Given the description of an element on the screen output the (x, y) to click on. 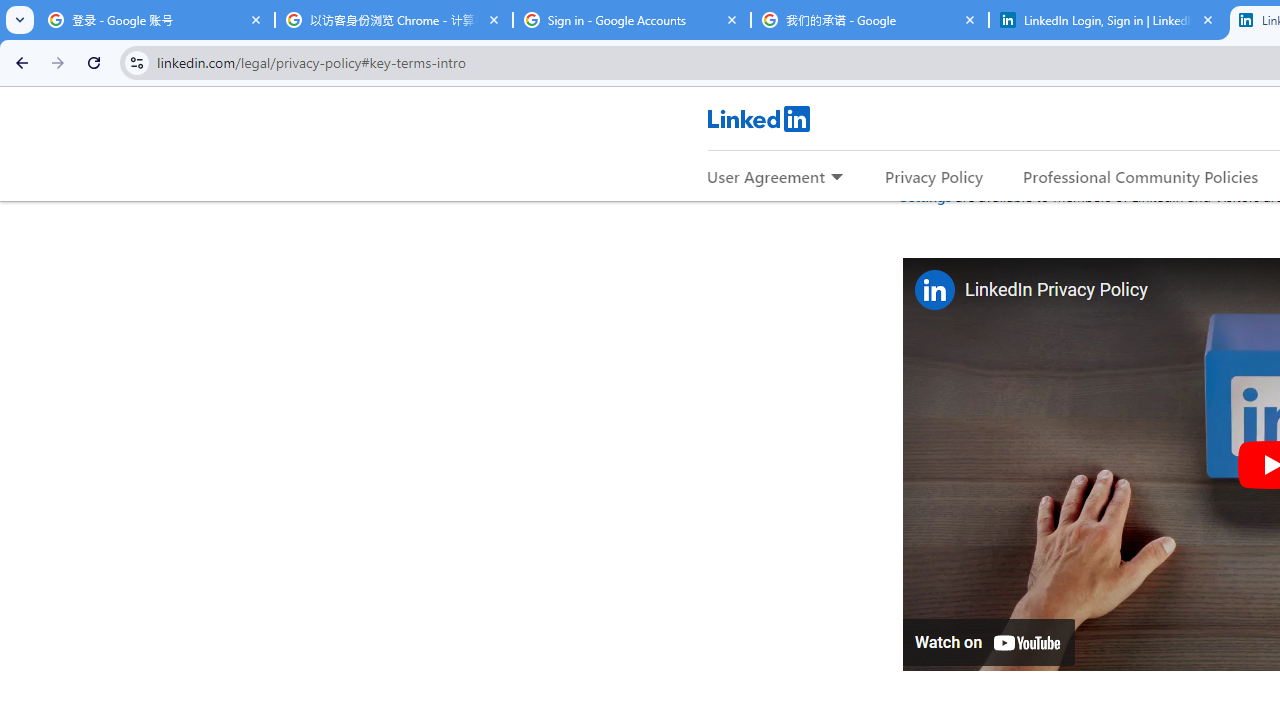
Professional Community Policies (1140, 176)
Key Terms  (948, 98)
Watch on YouTube (988, 641)
Sign in - Google Accounts (632, 20)
Photo image of LinkedIn (933, 289)
Expand to show more links for User Agreement (836, 178)
LinkedIn Logo (758, 118)
